Given the description of an element on the screen output the (x, y) to click on. 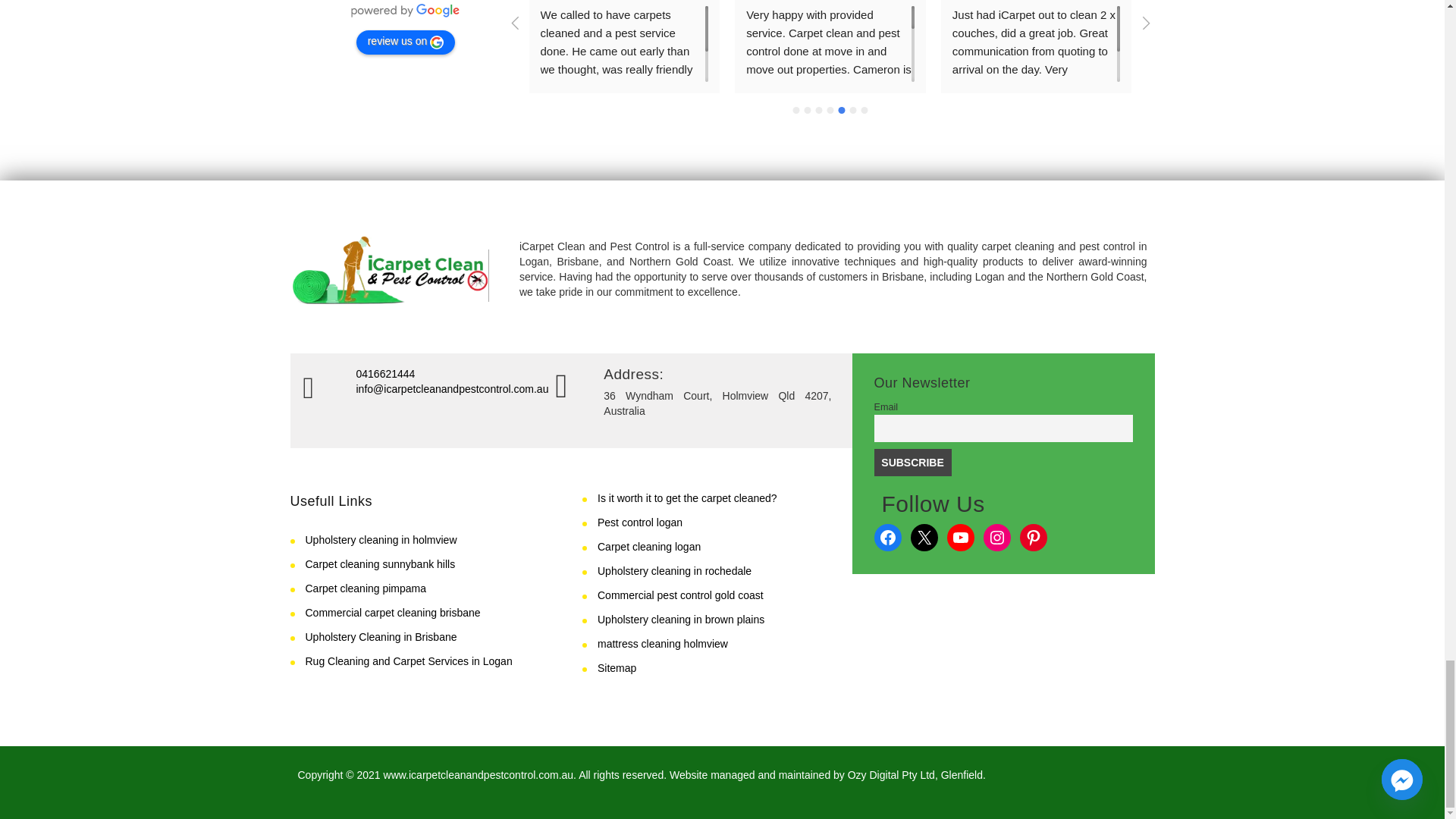
Subscribe (911, 461)
powered by Google (405, 10)
